Given the description of an element on the screen output the (x, y) to click on. 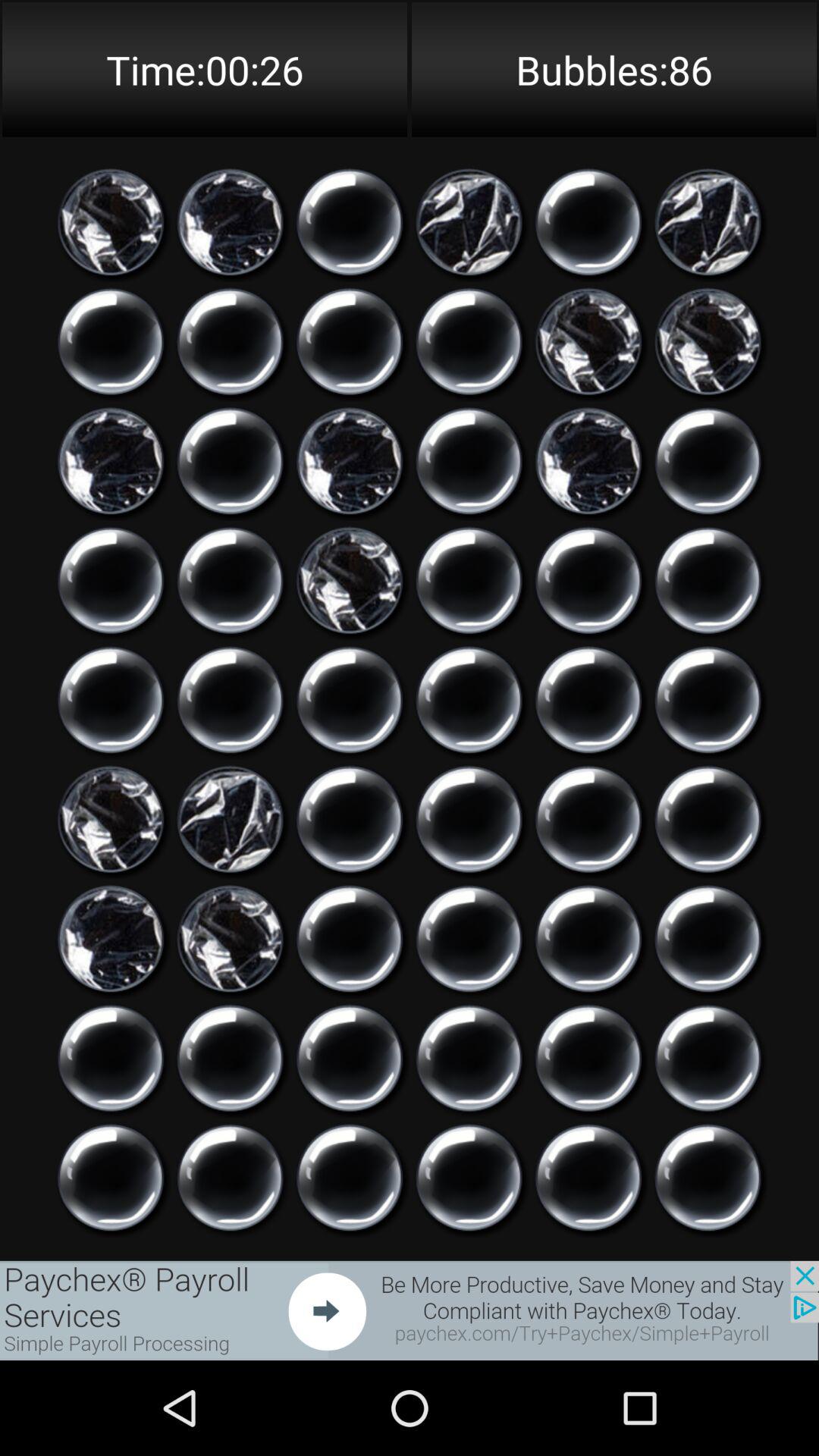
bubble button (707, 819)
